Given the description of an element on the screen output the (x, y) to click on. 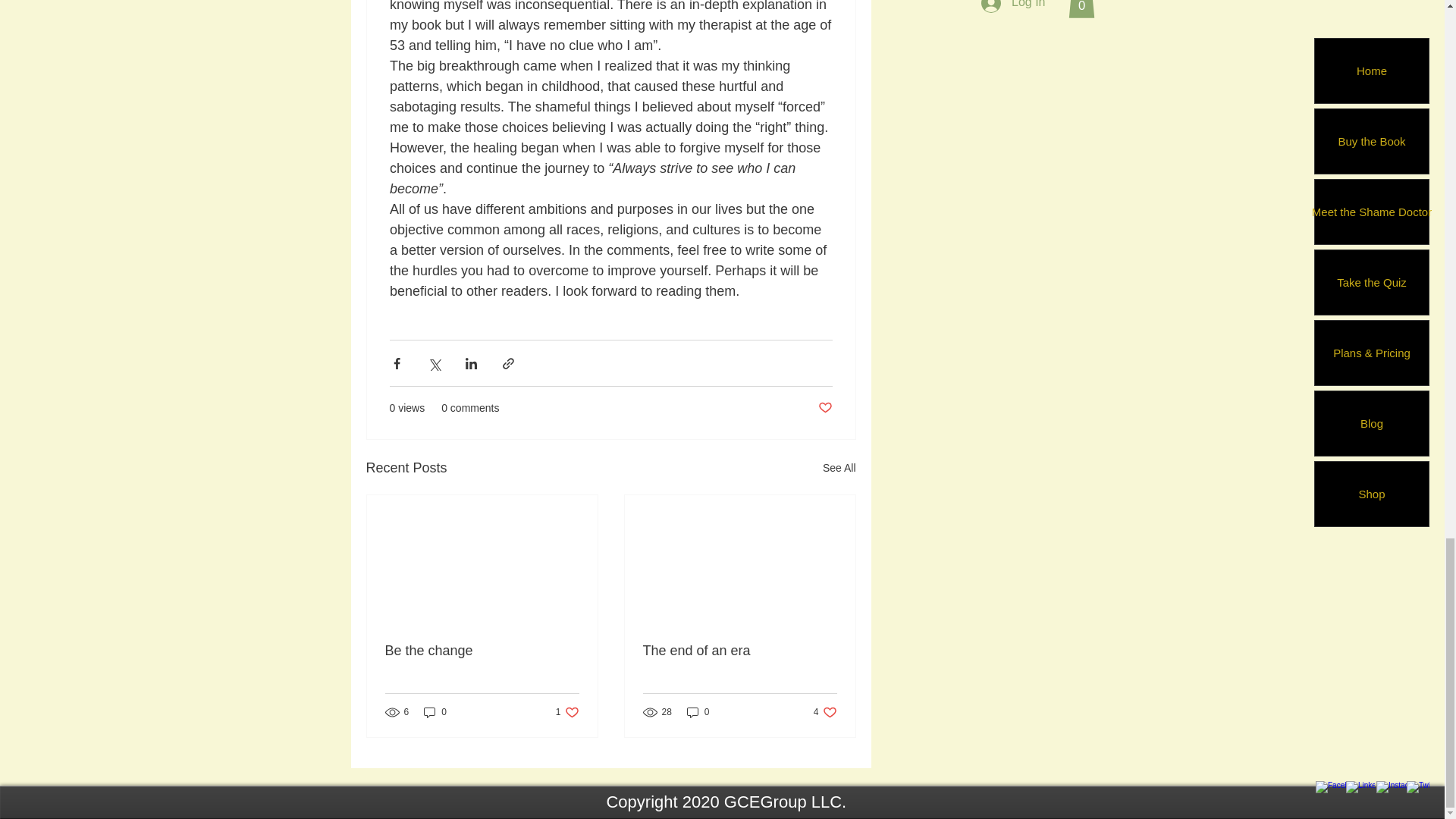
0 (698, 712)
Post not marked as liked (567, 712)
Be the change (823, 408)
0 (482, 650)
See All (435, 712)
      Copyright 2020 GCEGroup LLC. (839, 468)
The end of an era (711, 801)
